Given the description of an element on the screen output the (x, y) to click on. 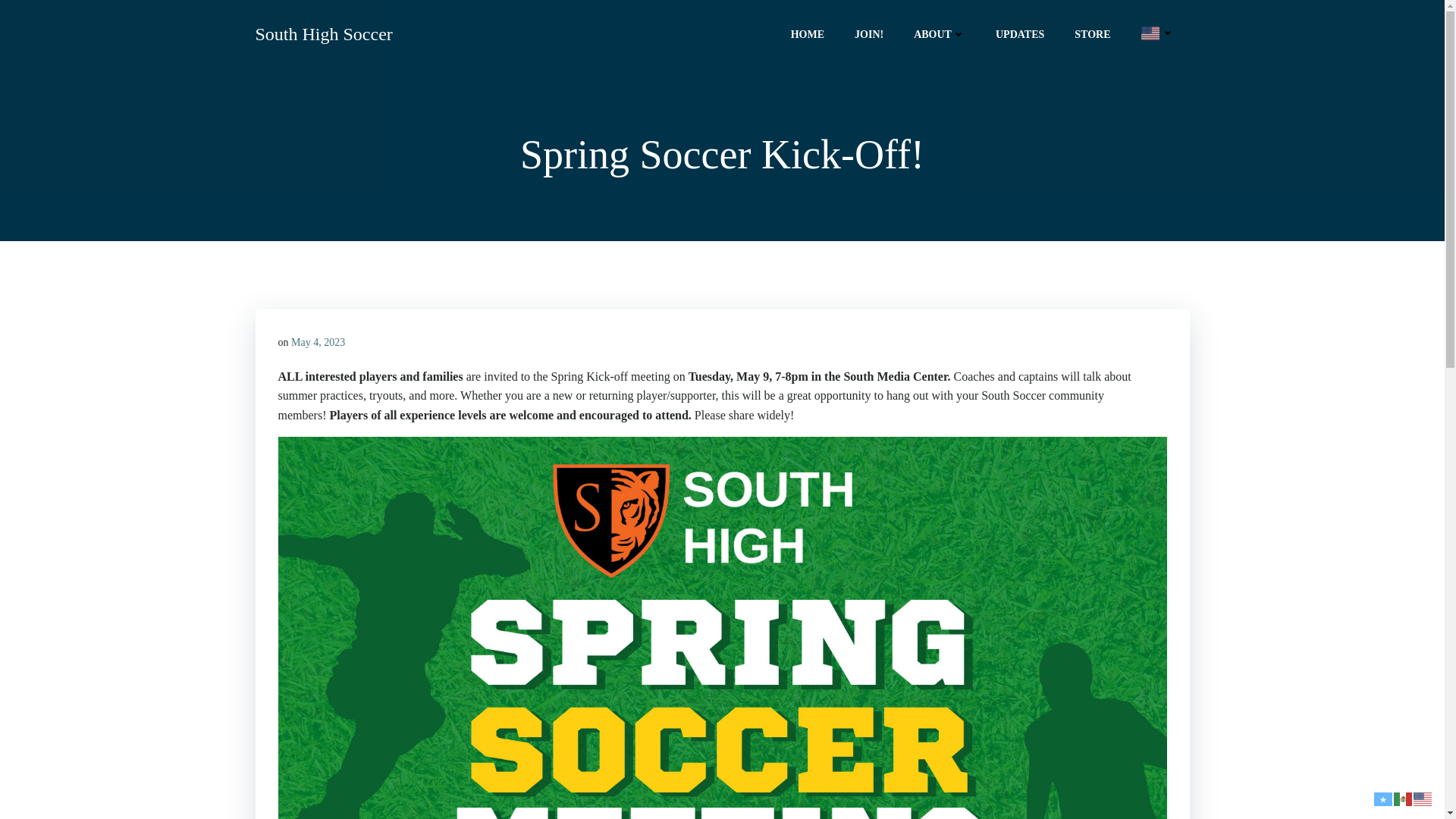
South High Soccer (322, 33)
English (1422, 797)
English (1156, 32)
JOIN! (868, 33)
ABOUT (939, 33)
UPDATES (1019, 33)
Colibri (882, 773)
Afsoomaali (1383, 797)
STORE (1091, 33)
May 4, 2023 (318, 342)
HOME (807, 33)
